Given the description of an element on the screen output the (x, y) to click on. 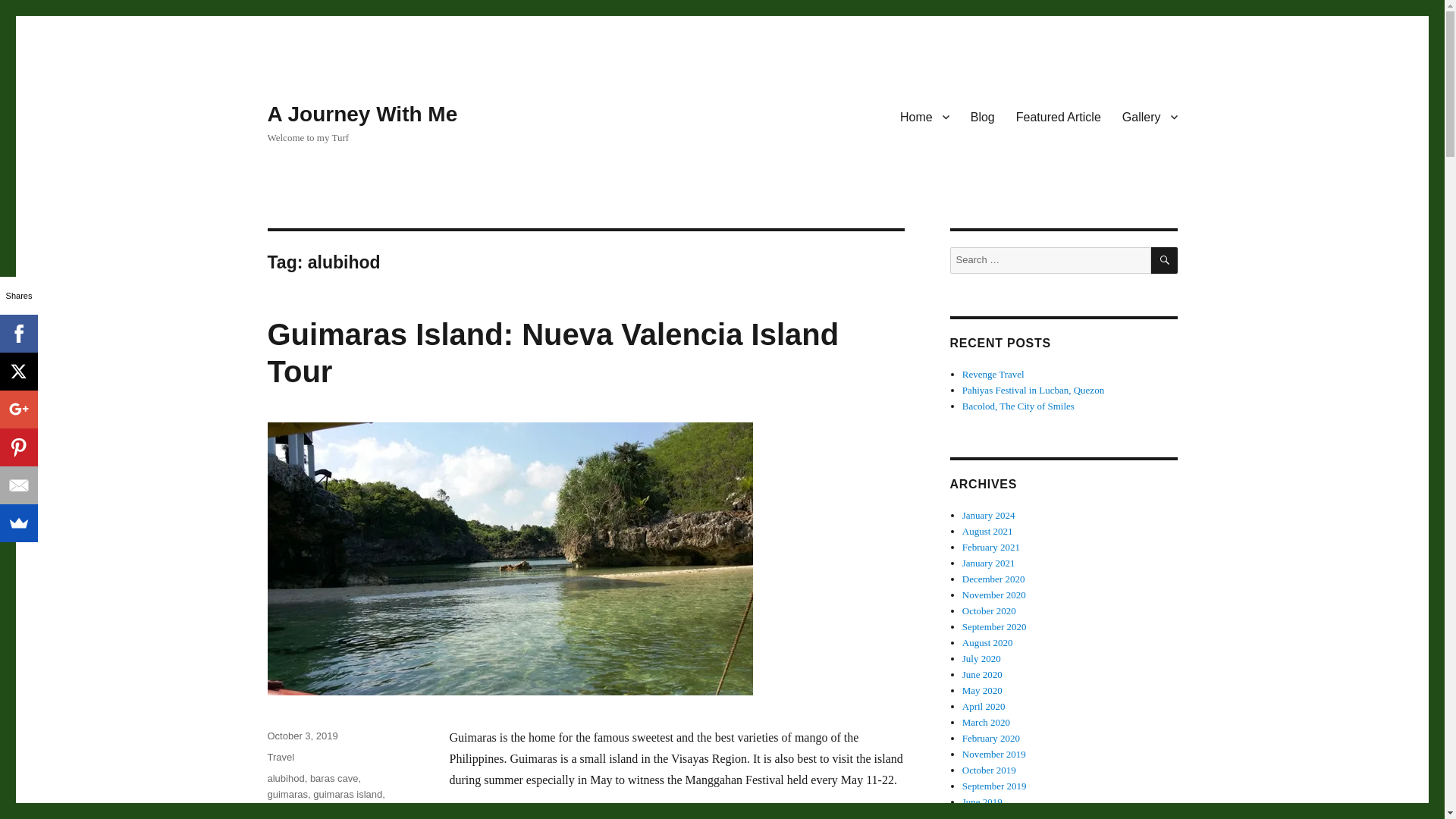
A Journey With Me (361, 114)
Guimaras Island: Nueva Valencia Island Tour (552, 352)
Revenge Travel (993, 374)
Gallery (1150, 116)
Travel (280, 756)
Facebook (18, 333)
alubihod (285, 778)
Blog (982, 116)
SEARCH (1164, 260)
Bacolod, The City of Smiles (1018, 405)
Pahiyas Festival in Lucban, Quezon (1032, 389)
baras cave (334, 778)
Featured Article (1059, 116)
natago beach (296, 809)
guimaras island (347, 794)
